Given the description of an element on the screen output the (x, y) to click on. 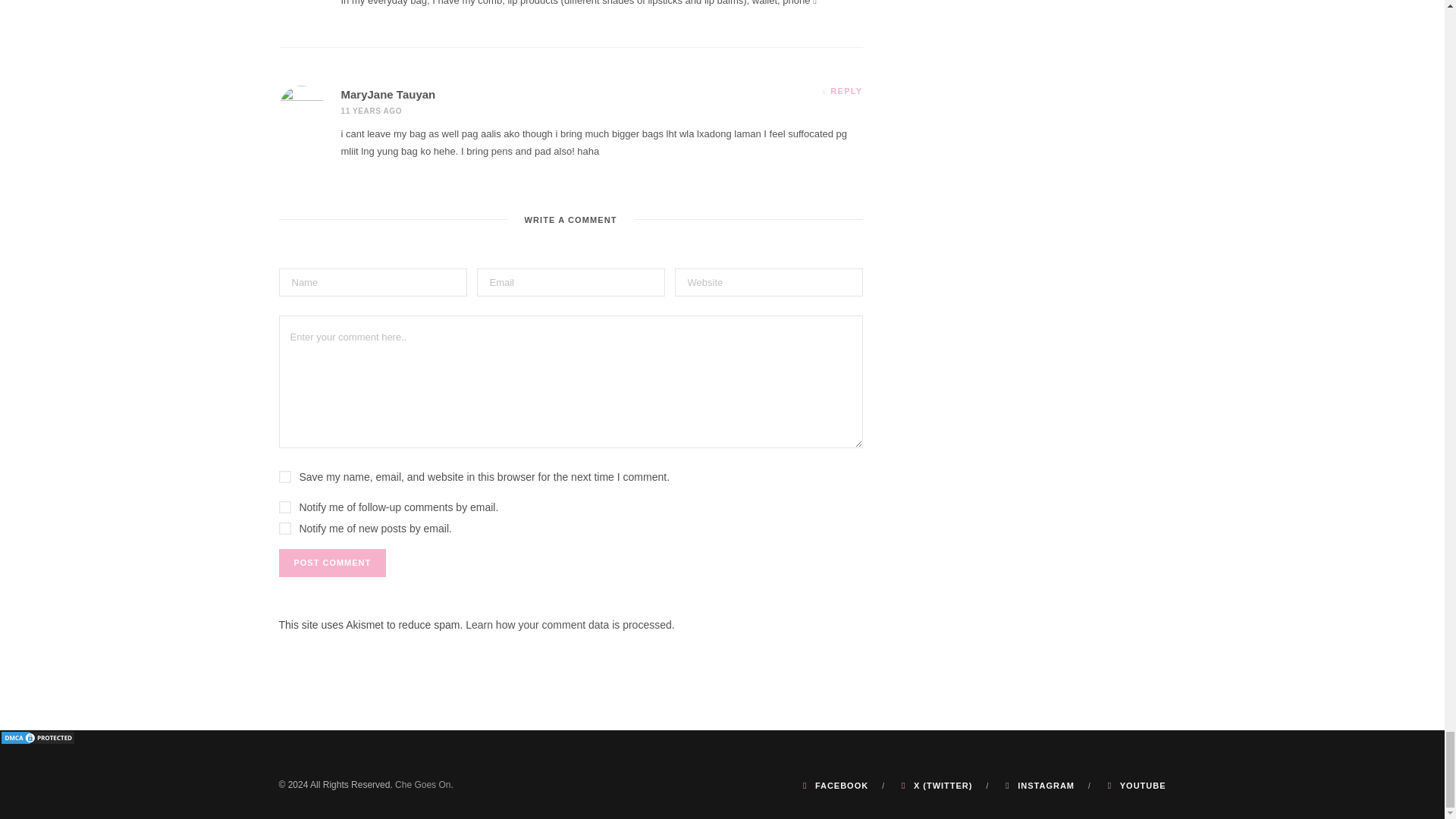
subscribe (285, 507)
Post Comment (333, 562)
subscribe (285, 528)
yes (285, 476)
